Given the description of an element on the screen output the (x, y) to click on. 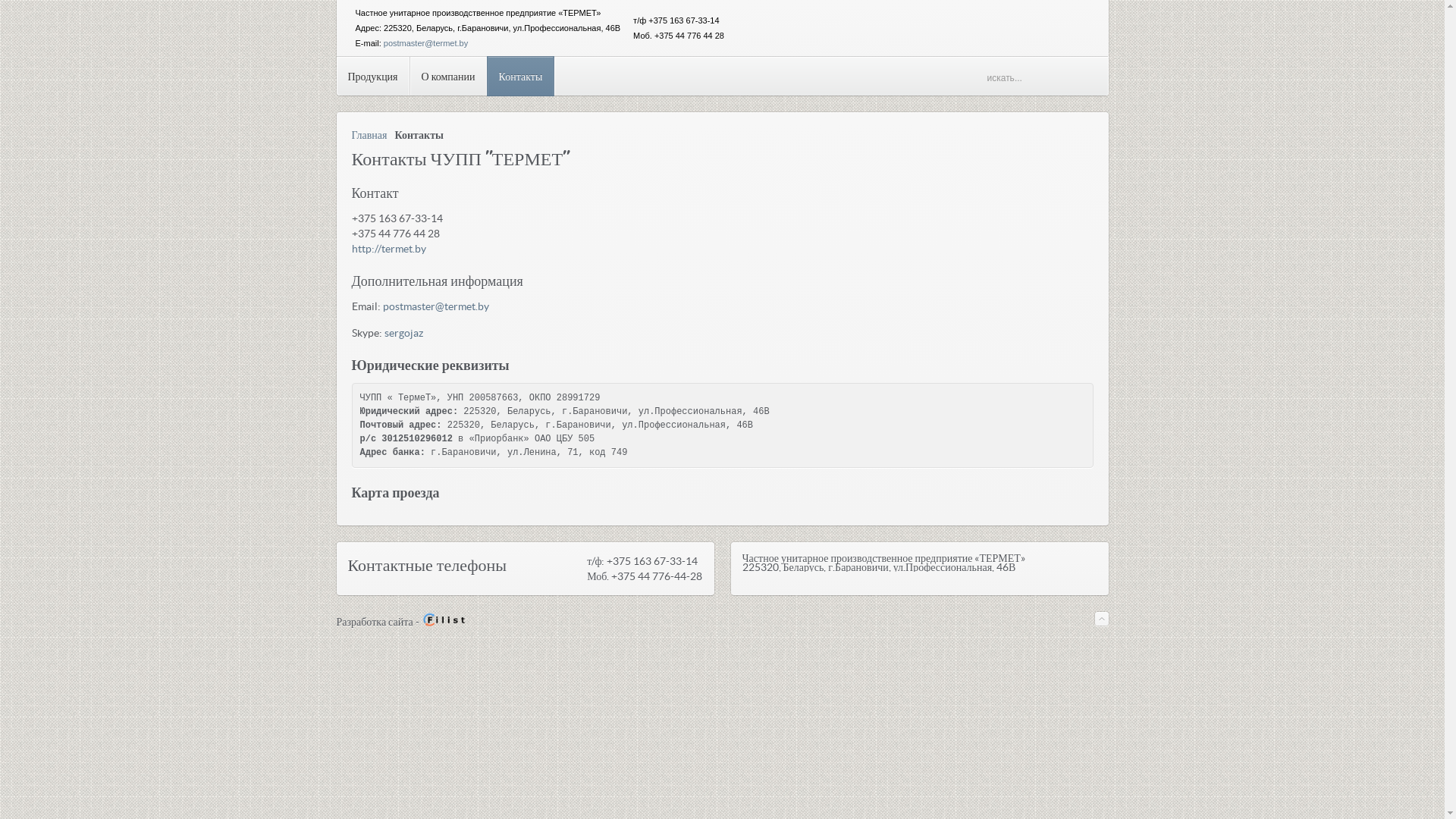
Reset Element type: text (3, 3)
postmaster@termet.by Element type: text (435, 306)
http://termet.by Element type: text (388, 248)
sergojaz Element type: text (402, 332)
postmaster@termet.by Element type: text (425, 42)
  Element type: text (337, 7)
